Given the description of an element on the screen output the (x, y) to click on. 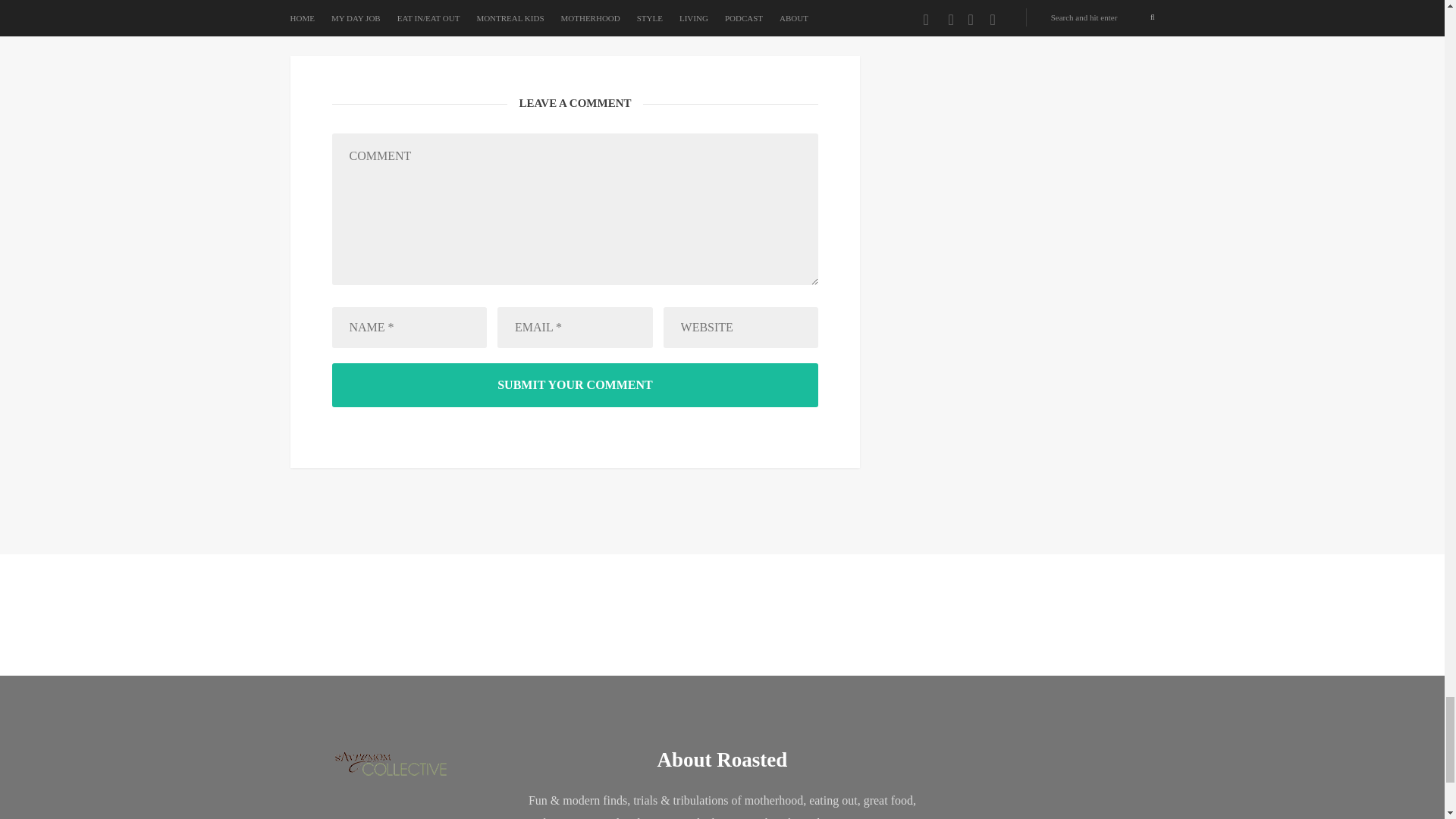
SUBMIT YOUR COMMENT (574, 385)
